Given the description of an element on the screen output the (x, y) to click on. 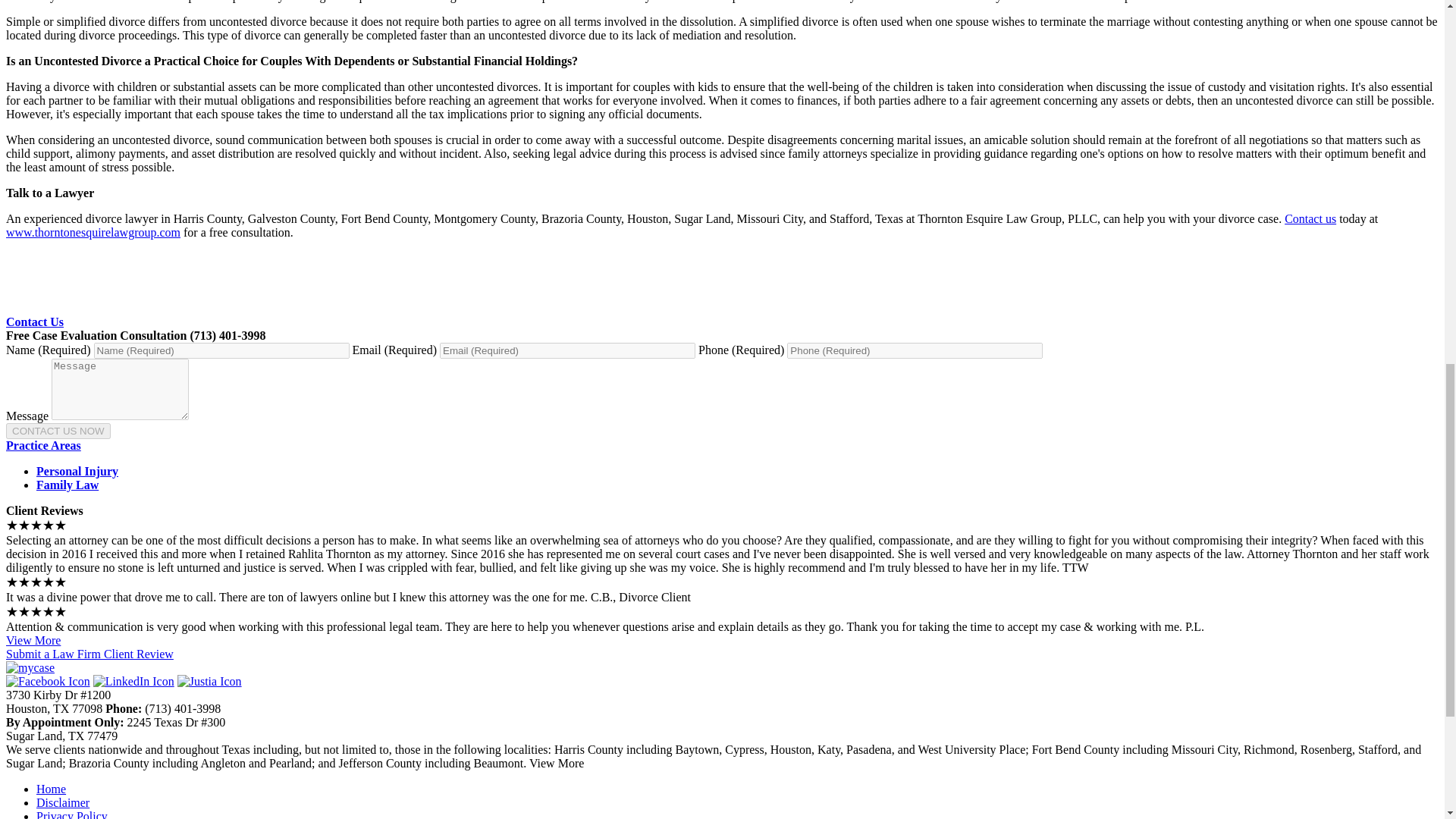
www.thorntonesquirelawgroup.com (92, 232)
Contact Us (34, 321)
CONTACT US NOW (57, 430)
Personal Injury (76, 471)
Submit a Law Firm Client Review (89, 653)
Home (50, 788)
LinkedIn (133, 680)
Practice Areas (43, 445)
Facebook (47, 680)
Disclaimer (62, 802)
Privacy Policy (71, 814)
Family Law (67, 484)
Justia (209, 680)
View More (33, 640)
Contact us (1310, 218)
